Given the description of an element on the screen output the (x, y) to click on. 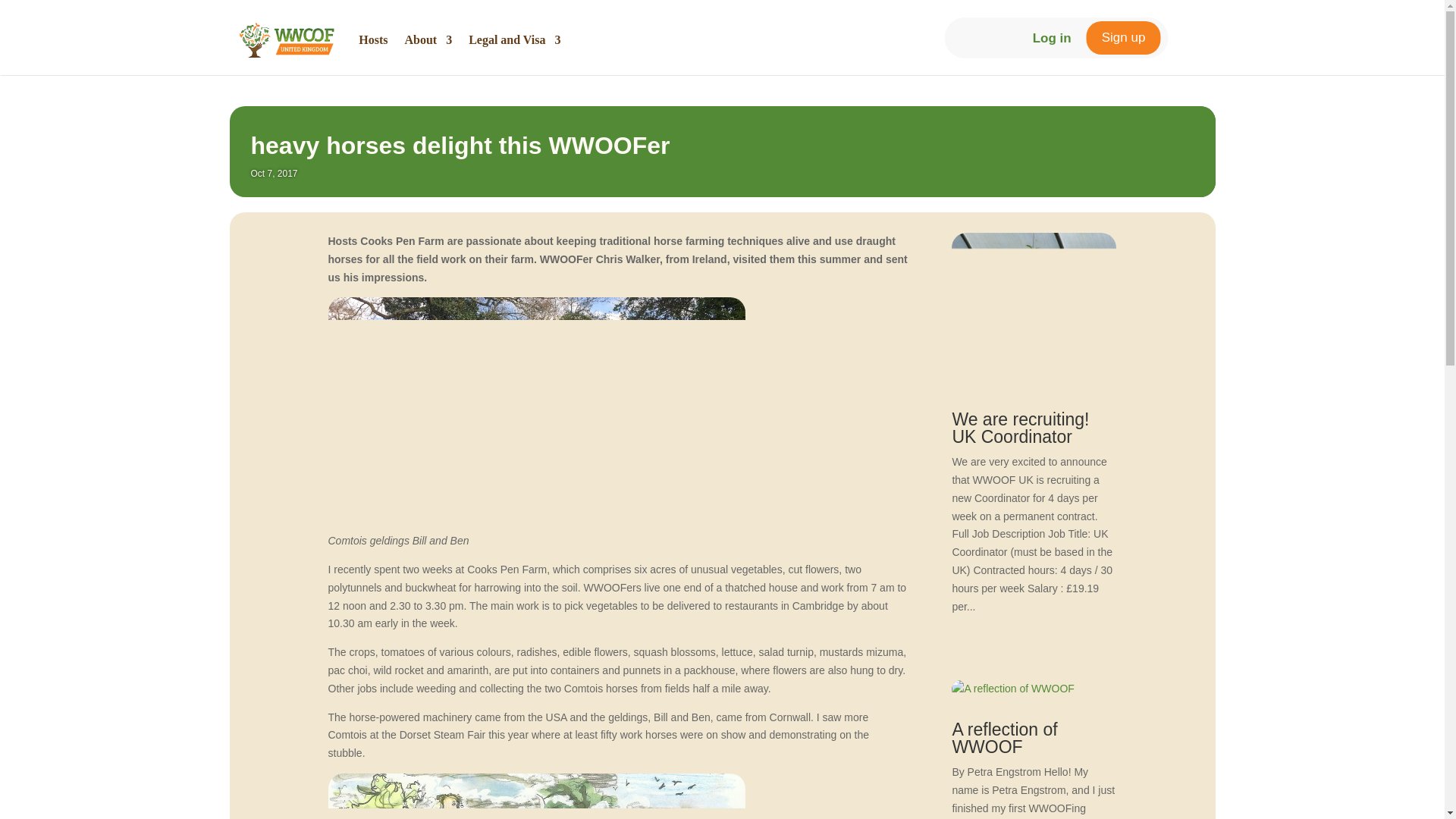
A reflection of WWOOF (1004, 737)
We are recruiting! UK Coordinator (1020, 427)
Legal and Visa (514, 39)
Log in (1051, 38)
